Given the description of an element on the screen output the (x, y) to click on. 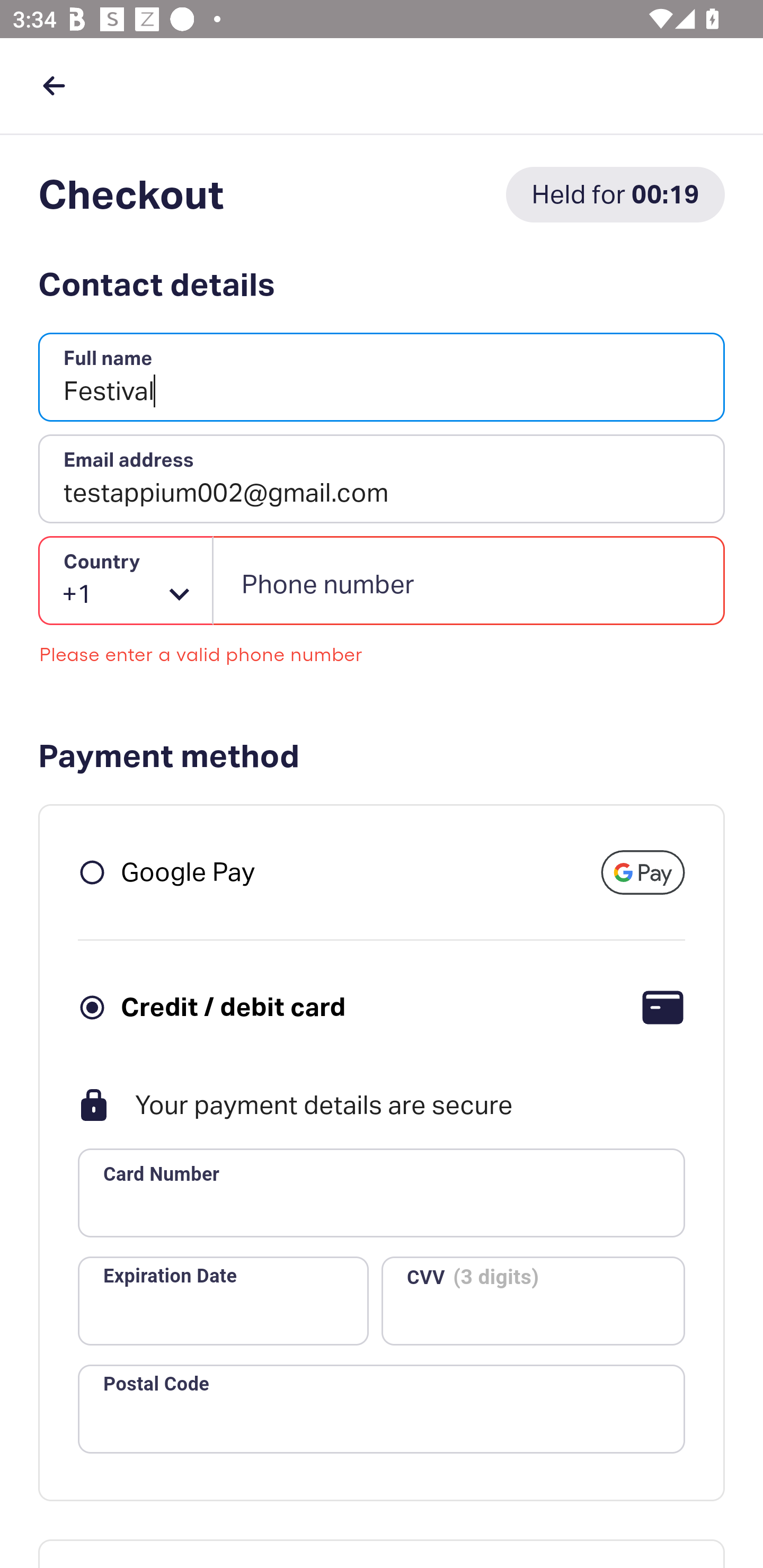
back button (53, 85)
Festival (381, 377)
testappium002@gmail.com (381, 478)
  +1 (126, 580)
Google Pay (187, 871)
Credit / debit card (233, 1006)
Card Number (381, 1192)
Expiration Date (222, 1300)
CVV (3 digits) (533, 1300)
Postal Code (381, 1408)
